Given the description of an element on the screen output the (x, y) to click on. 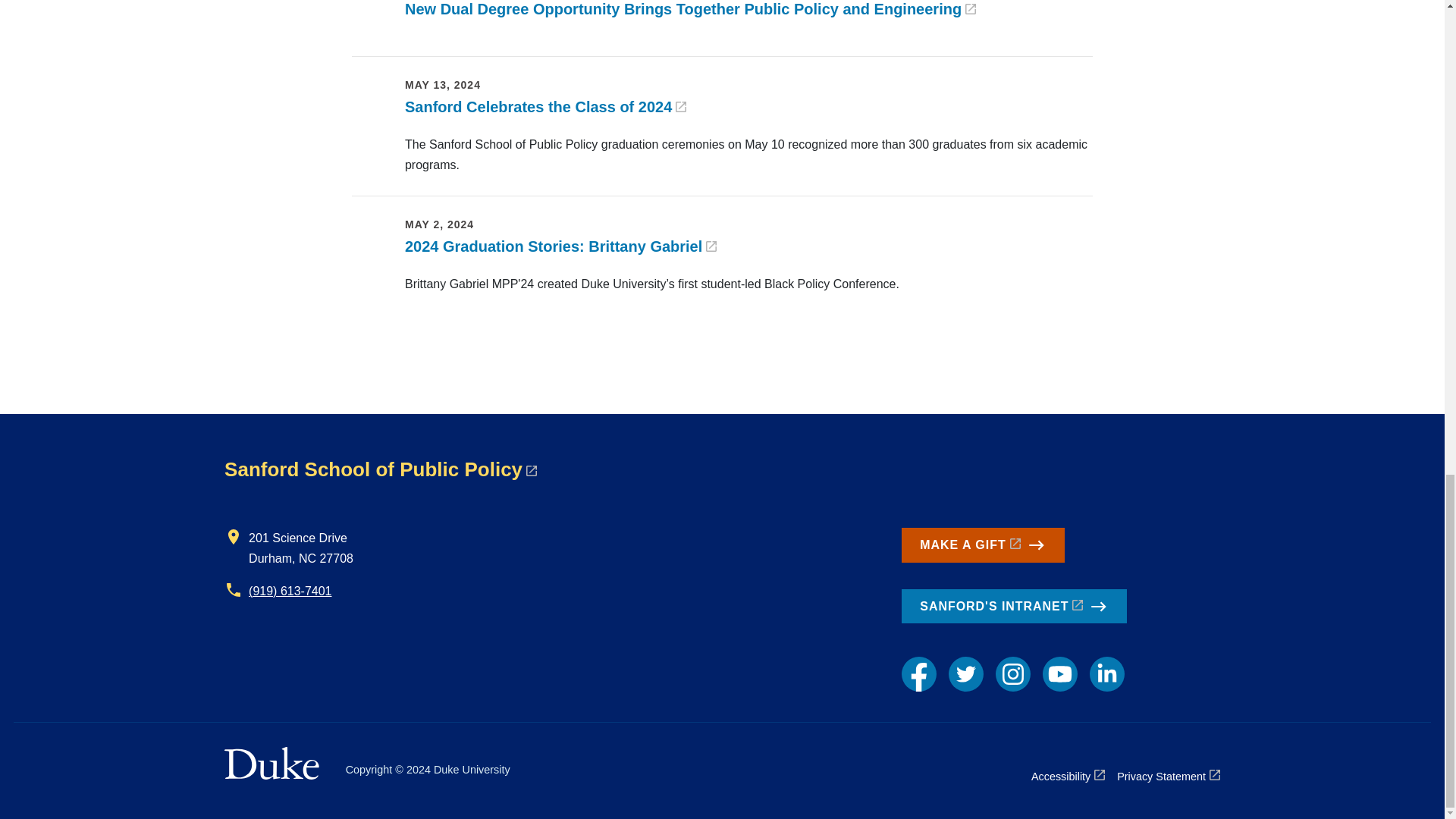
Sanford School of Public Policy (380, 468)
Sanford Celebrates the Class of 2024 (544, 106)
SANFORD'S INTRANET (1013, 606)
Privacy Statement (1168, 776)
MAKE A GIFT (982, 544)
LinkedIn link (1106, 673)
Instagram link (1012, 673)
Facebook link (918, 673)
2024 Graduation Stories: Brittany Gabriel (560, 246)
YouTube link (1059, 673)
Twitter link (966, 673)
Accessibility (1067, 776)
